Given the description of an element on the screen output the (x, y) to click on. 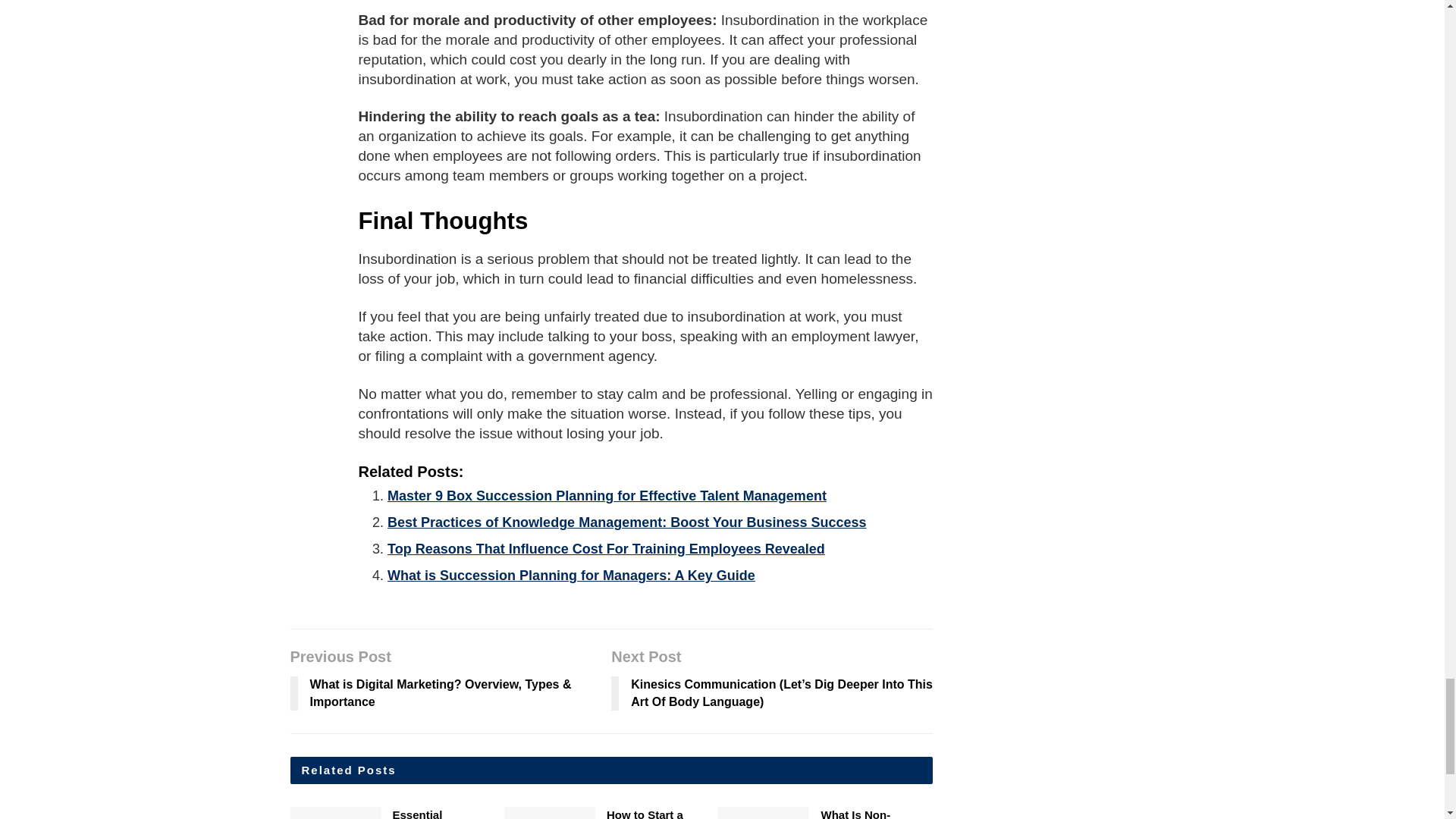
What is Succession Planning for Managers: A Key Guide (571, 575)
Previous (944, 814)
